Given the description of an element on the screen output the (x, y) to click on. 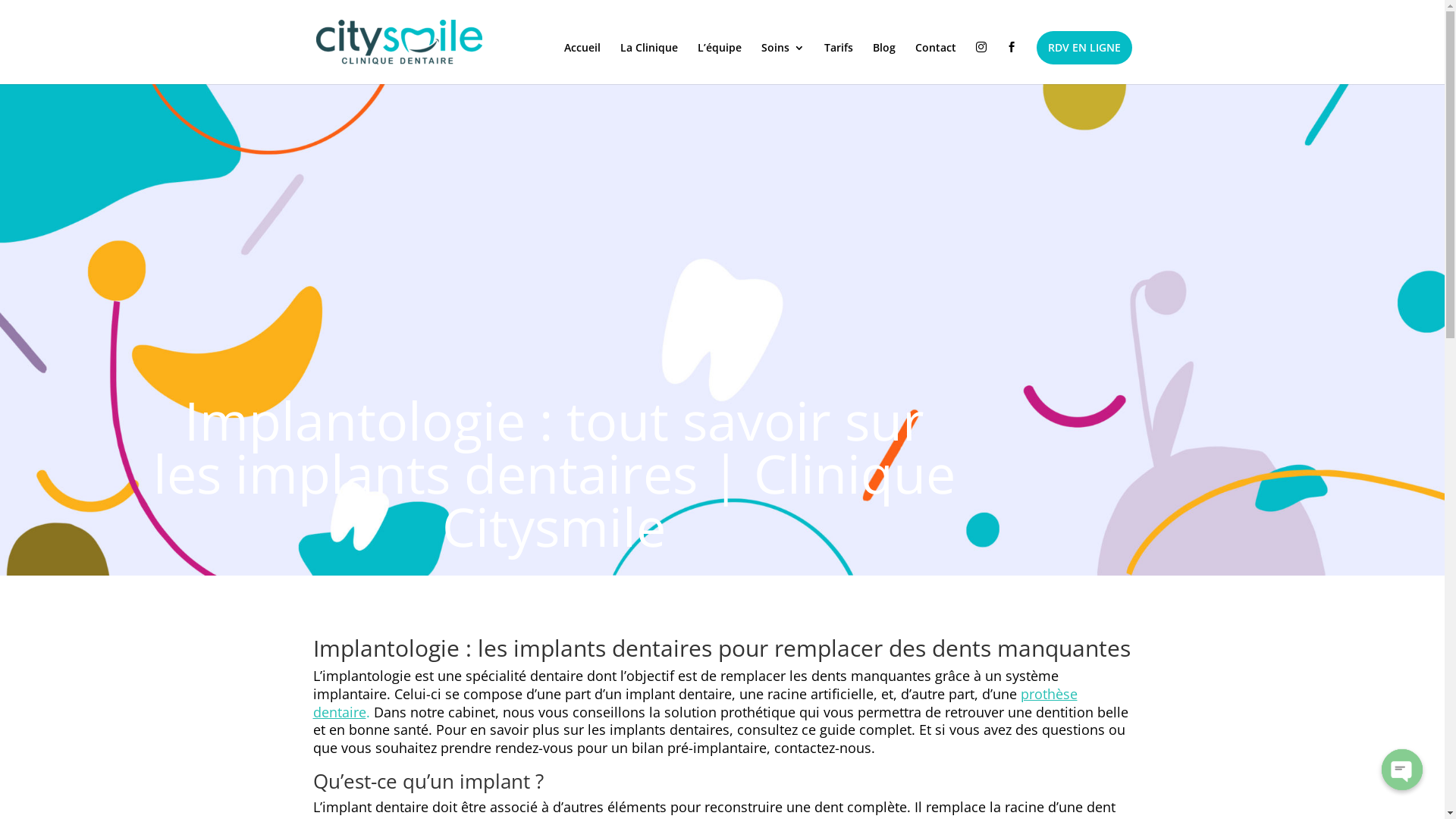
RDV EN LIGNE Element type: text (1083, 47)
Soins Element type: text (782, 63)
La Clinique Element type: text (648, 63)
Tarifs Element type: text (837, 63)
Blog Element type: text (883, 63)
Contact Element type: text (934, 63)
Accueil Element type: text (582, 63)
